Given the description of an element on the screen output the (x, y) to click on. 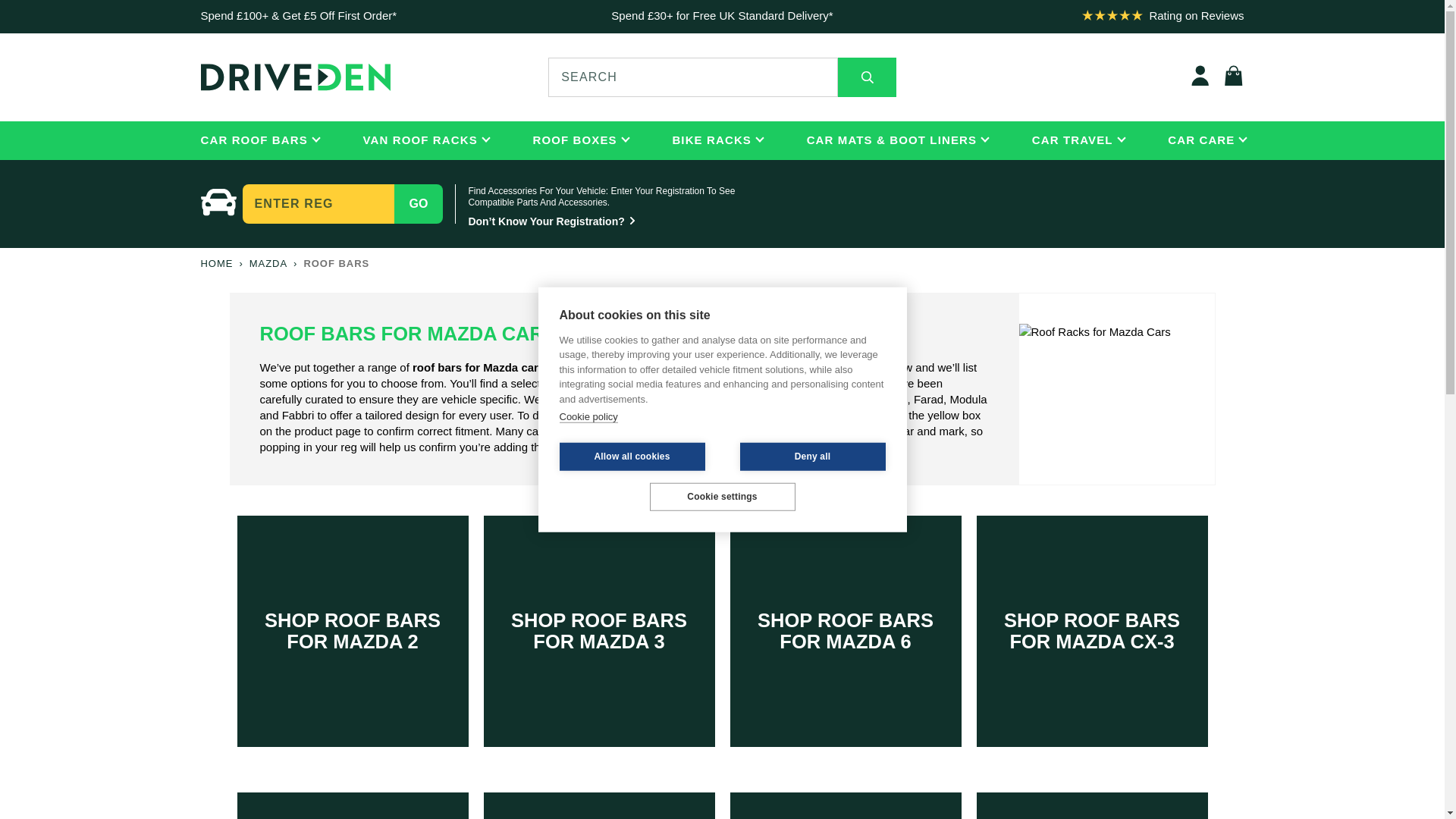
Rating on Reviews (1195, 15)
VAN ROOF RACKS (419, 140)
ROOF BOXES (573, 140)
BIKE RACKS (711, 140)
CAR ROOF BARS (253, 140)
